Given the description of an element on the screen output the (x, y) to click on. 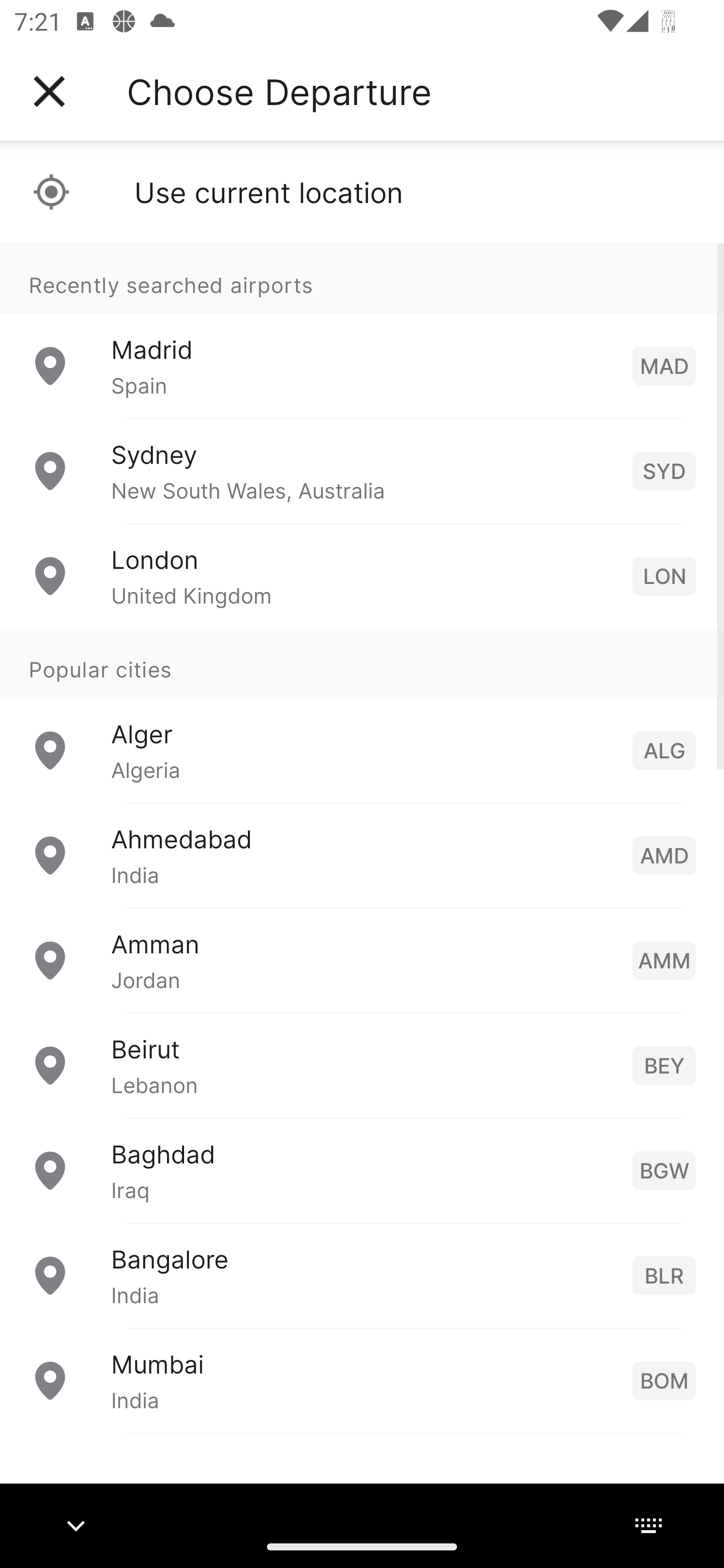
Choose Departure (279, 91)
Use current location (362, 192)
Recently searched airports Madrid Spain MAD (362, 330)
Recently searched airports (362, 278)
Sydney New South Wales, Australia SYD (362, 470)
London United Kingdom LON (362, 575)
Popular cities Alger Algeria ALG (362, 715)
Popular cities (362, 663)
Ahmedabad India AMD (362, 854)
Amman Jordan AMM (362, 959)
Beirut Lebanon BEY (362, 1064)
Baghdad Iraq BGW (362, 1170)
Bangalore India BLR (362, 1275)
Mumbai India BOM (362, 1380)
